Given the description of an element on the screen output the (x, y) to click on. 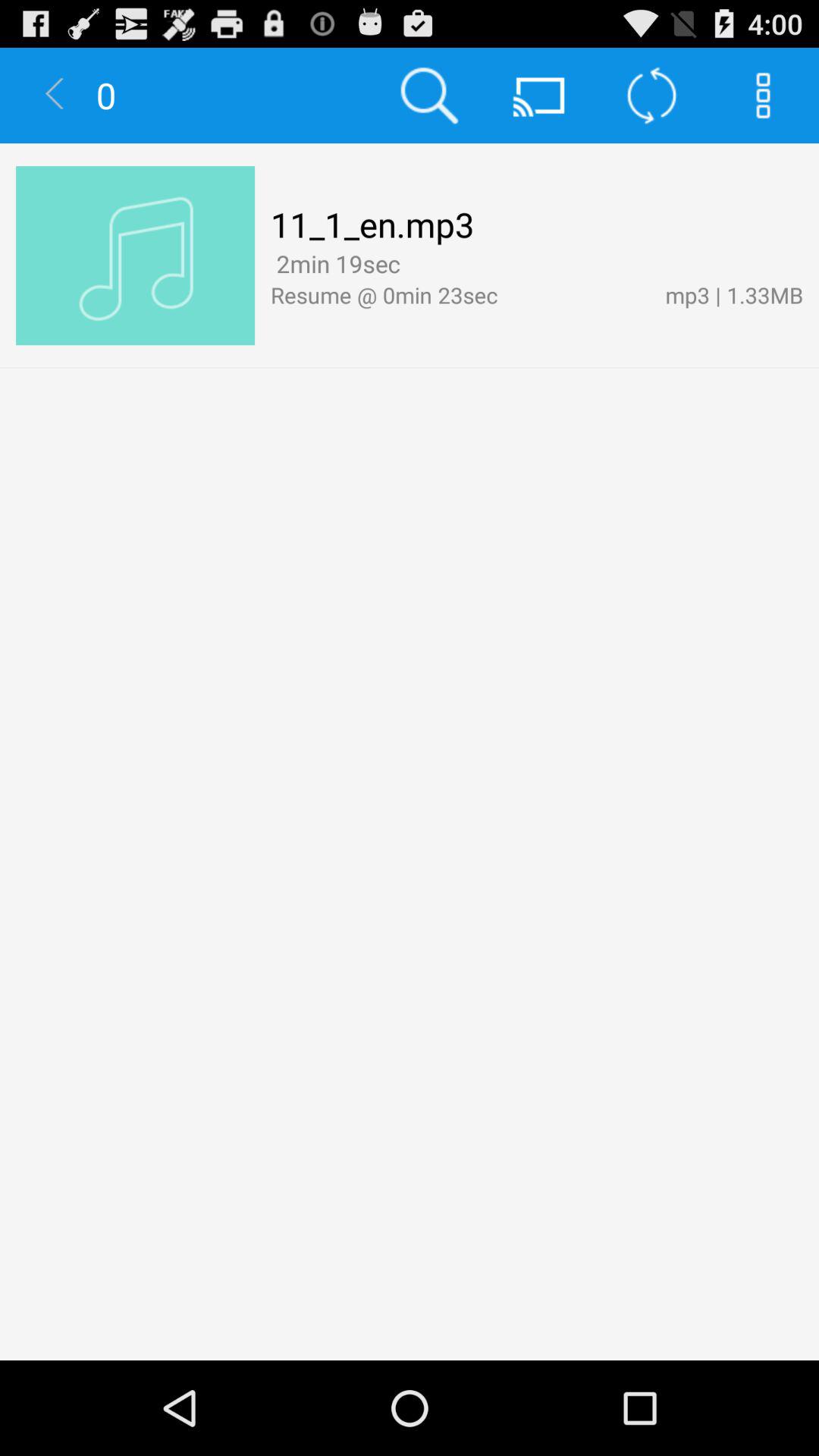
select the icon below the 11_1_en.mp3 icon (335, 263)
